Given the description of an element on the screen output the (x, y) to click on. 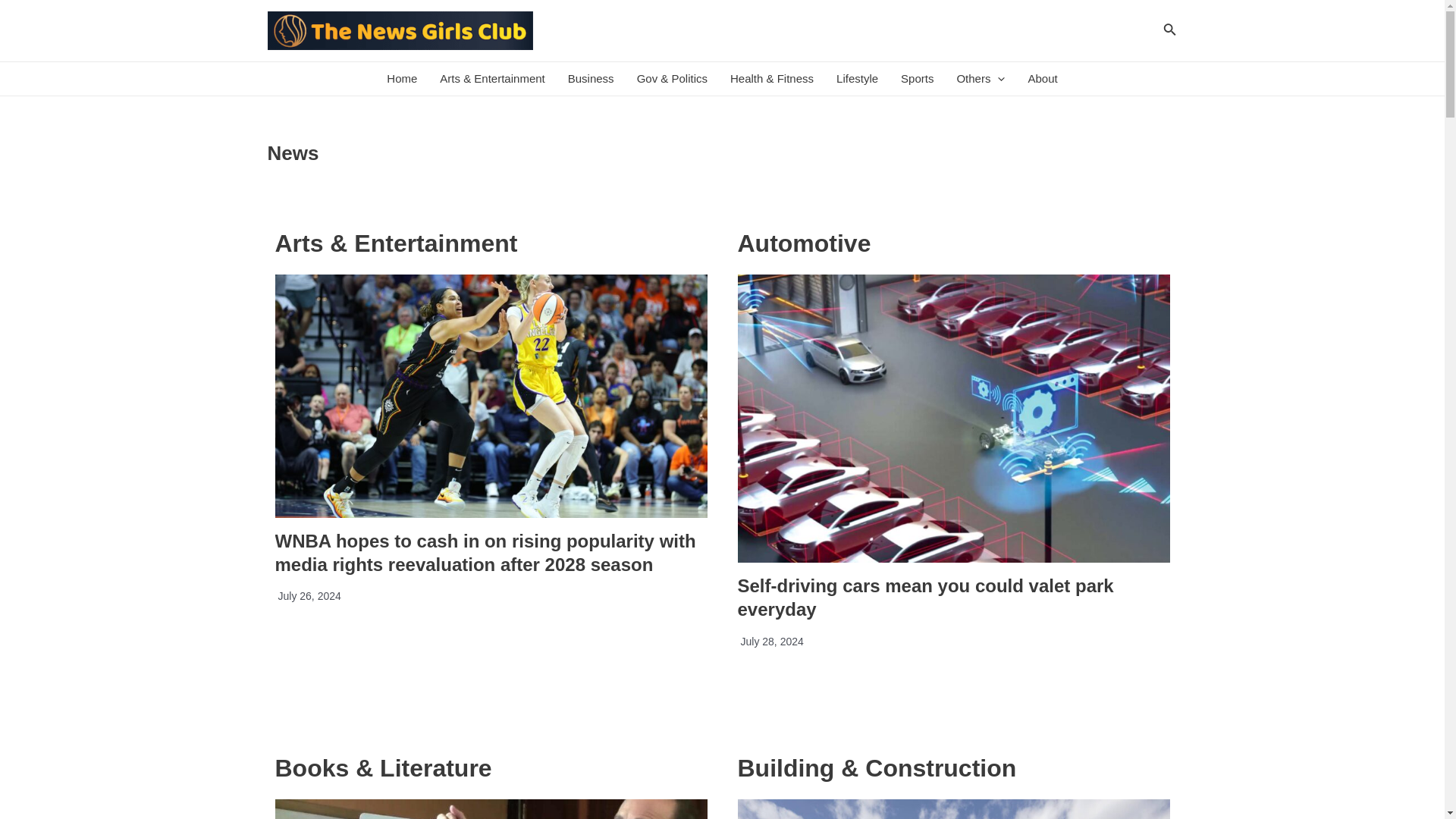
Others (980, 78)
Home (401, 78)
Lifestyle (857, 78)
Business (591, 78)
Sports (916, 78)
About (1042, 78)
